Given the description of an element on the screen output the (x, y) to click on. 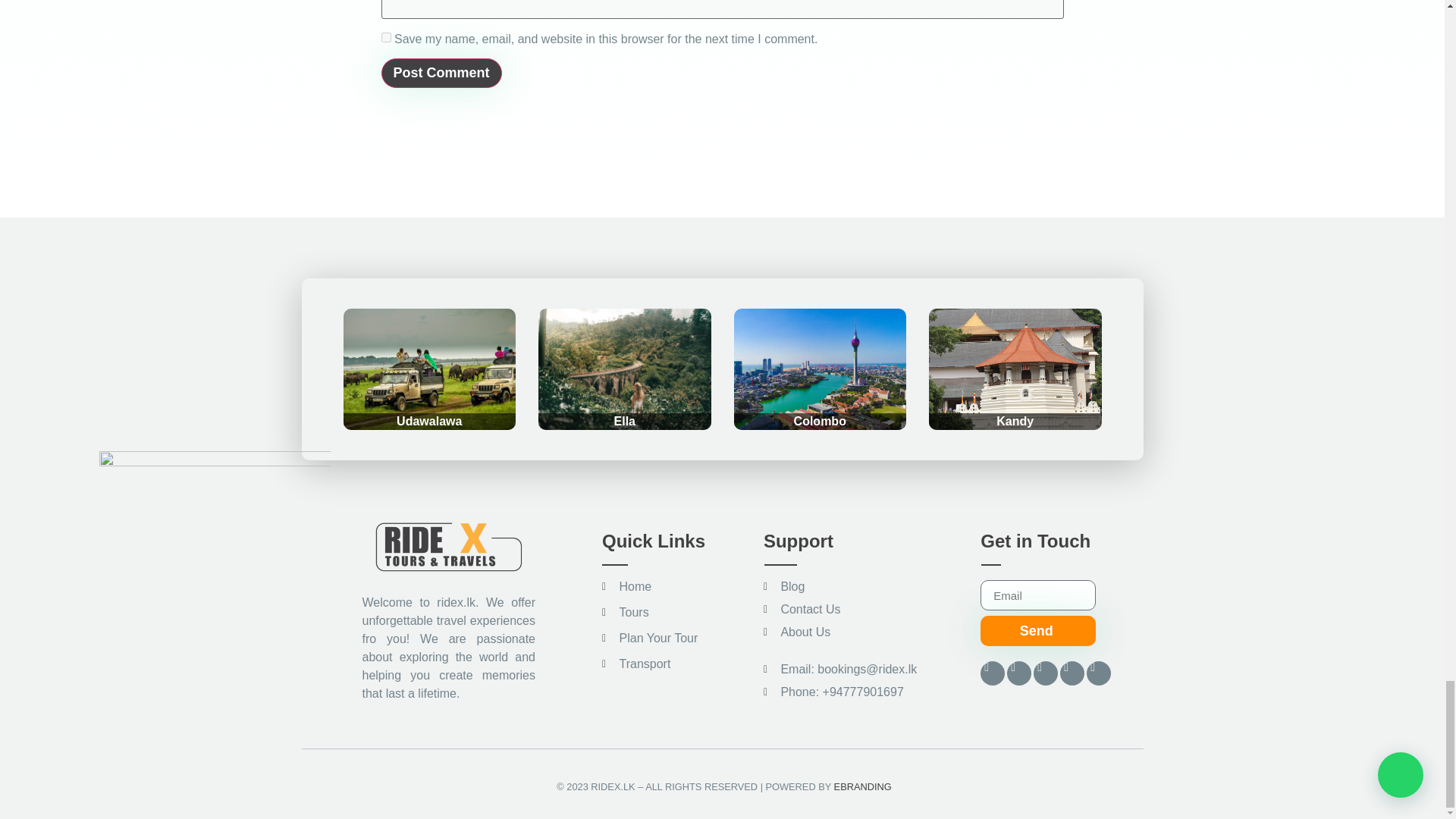
Home (678, 587)
Tours (678, 612)
Plan Your Tour (678, 638)
Post Comment (440, 72)
yes (385, 37)
Post Comment (440, 72)
